Given the description of an element on the screen output the (x, y) to click on. 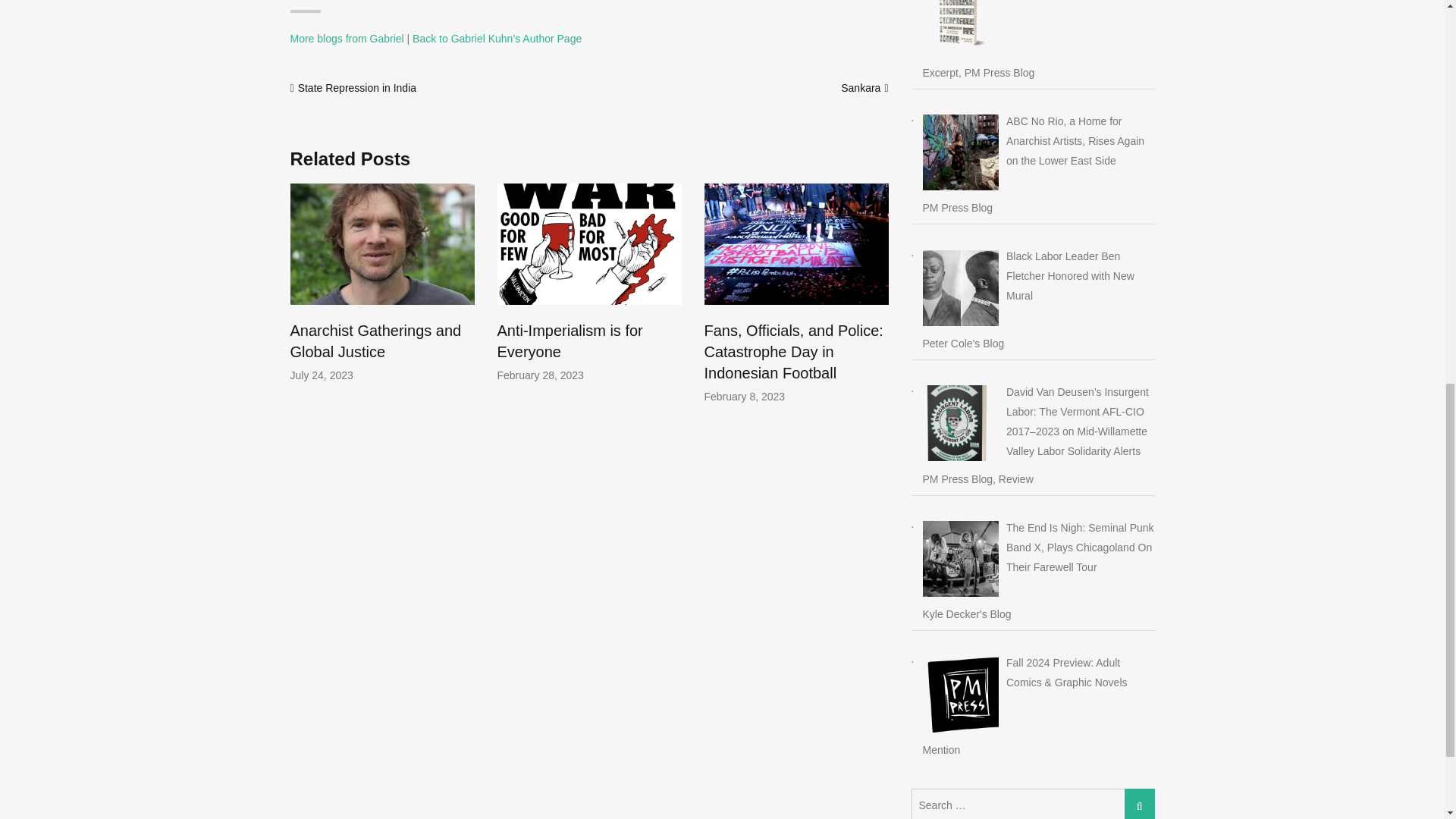
Anarchist Gatherings and Global Justice (375, 341)
Anti-Imperialism is for Everyone (570, 341)
State Repression in India (357, 87)
More blogs from Gabriel (346, 38)
Sankara (860, 87)
